Given the description of an element on the screen output the (x, y) to click on. 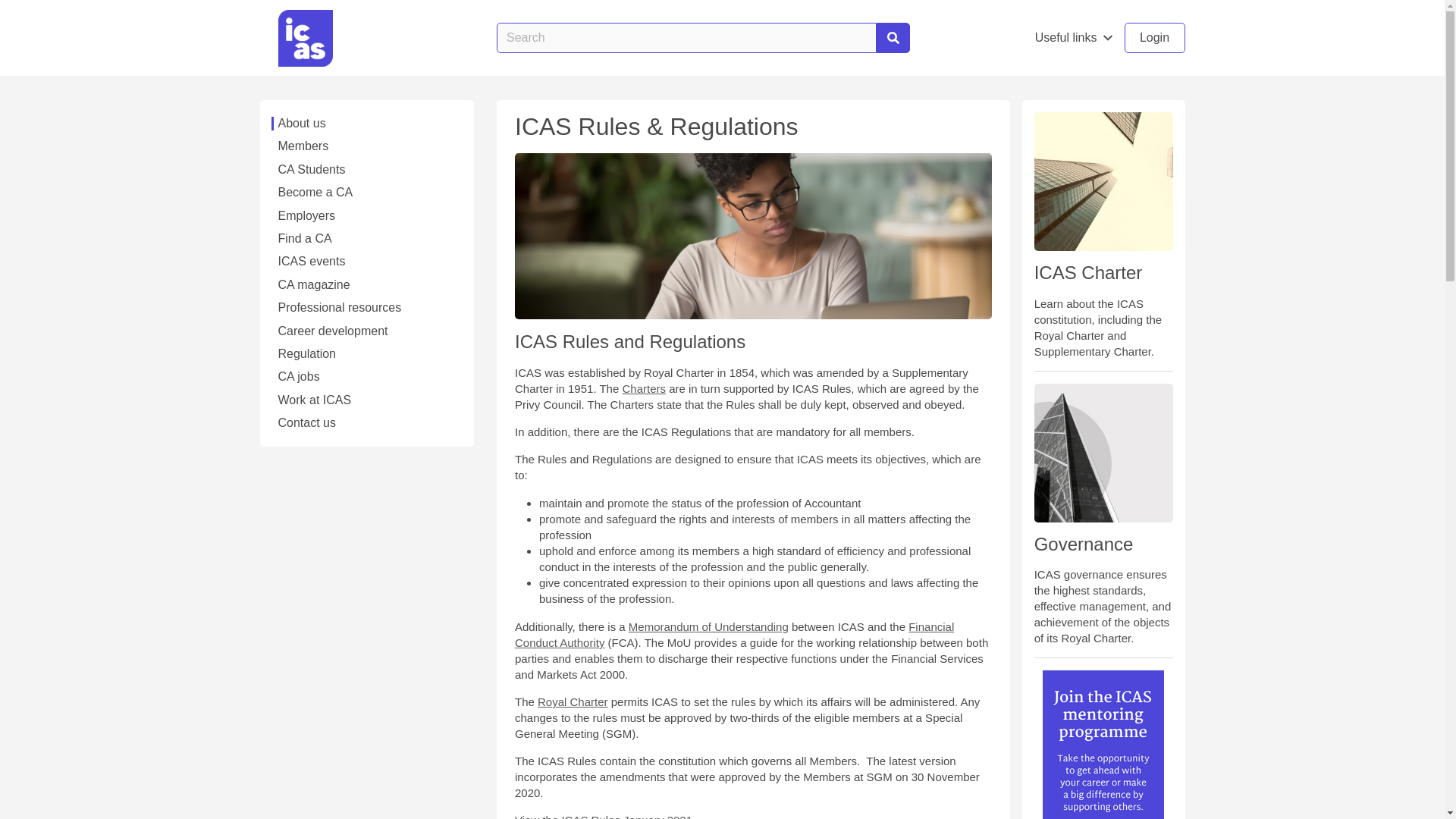
learn more about the Charter (572, 701)
ICAS (305, 37)
Login (1154, 37)
visit the FCA (734, 634)
Search (893, 37)
Useful links (1073, 37)
learn more about the Charters (643, 388)
CA Students (366, 169)
Members (366, 146)
About us (366, 123)
